Given the description of an element on the screen output the (x, y) to click on. 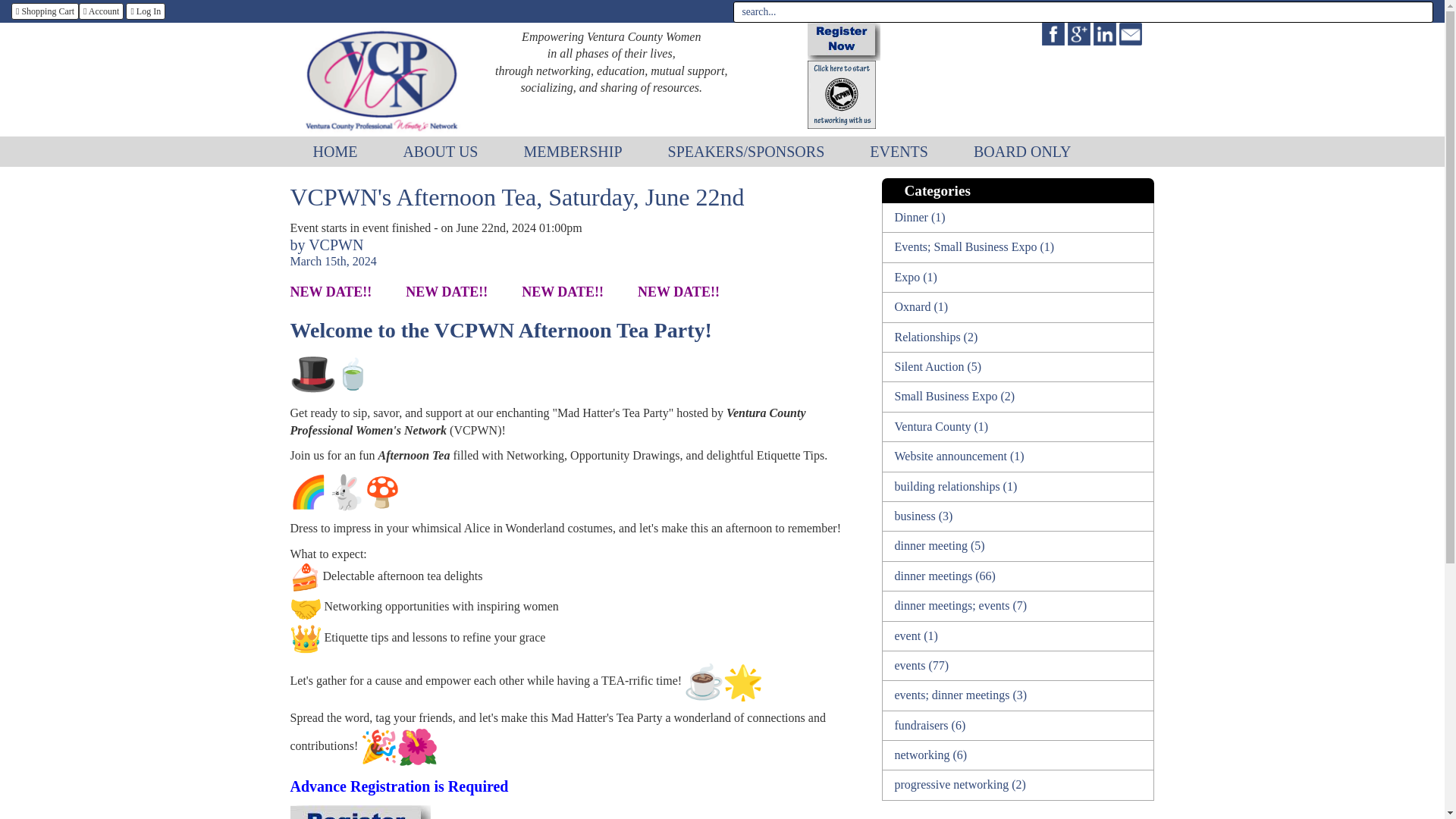
Account (100, 11)
HOME (334, 151)
Contact Us (1130, 32)
MEMBERSHIP (572, 151)
VCPWN LinkedIn (1106, 32)
VCPWN Facebook (1054, 32)
ABOUT US (440, 151)
Log In (145, 11)
EVENTS (898, 151)
Shopping Cart (44, 11)
